Given the description of an element on the screen output the (x, y) to click on. 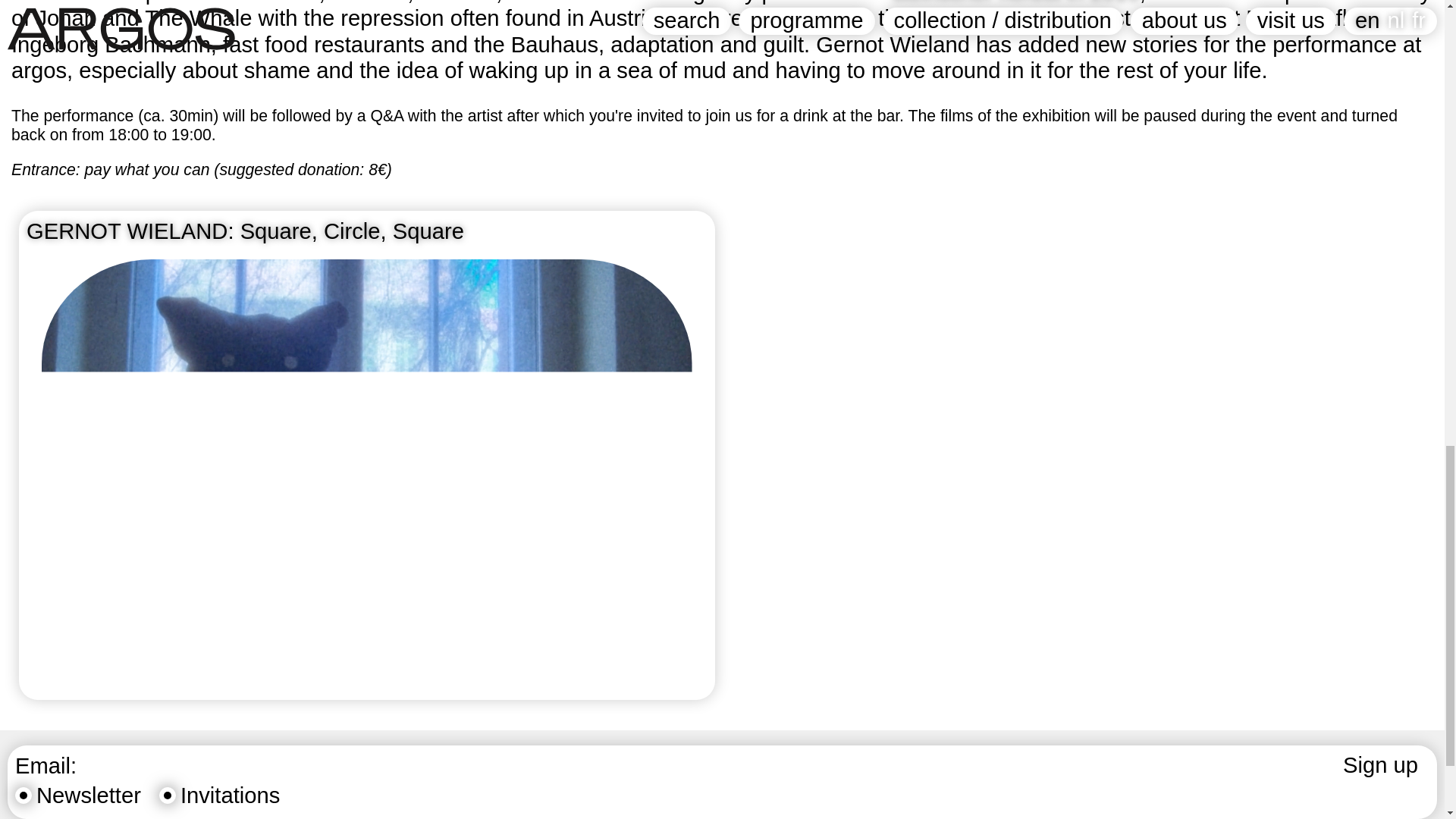
steirischer herbst in 2019 (1016, 2)
Sign up (1380, 766)
Sign up (1380, 766)
